Given the description of an element on the screen output the (x, y) to click on. 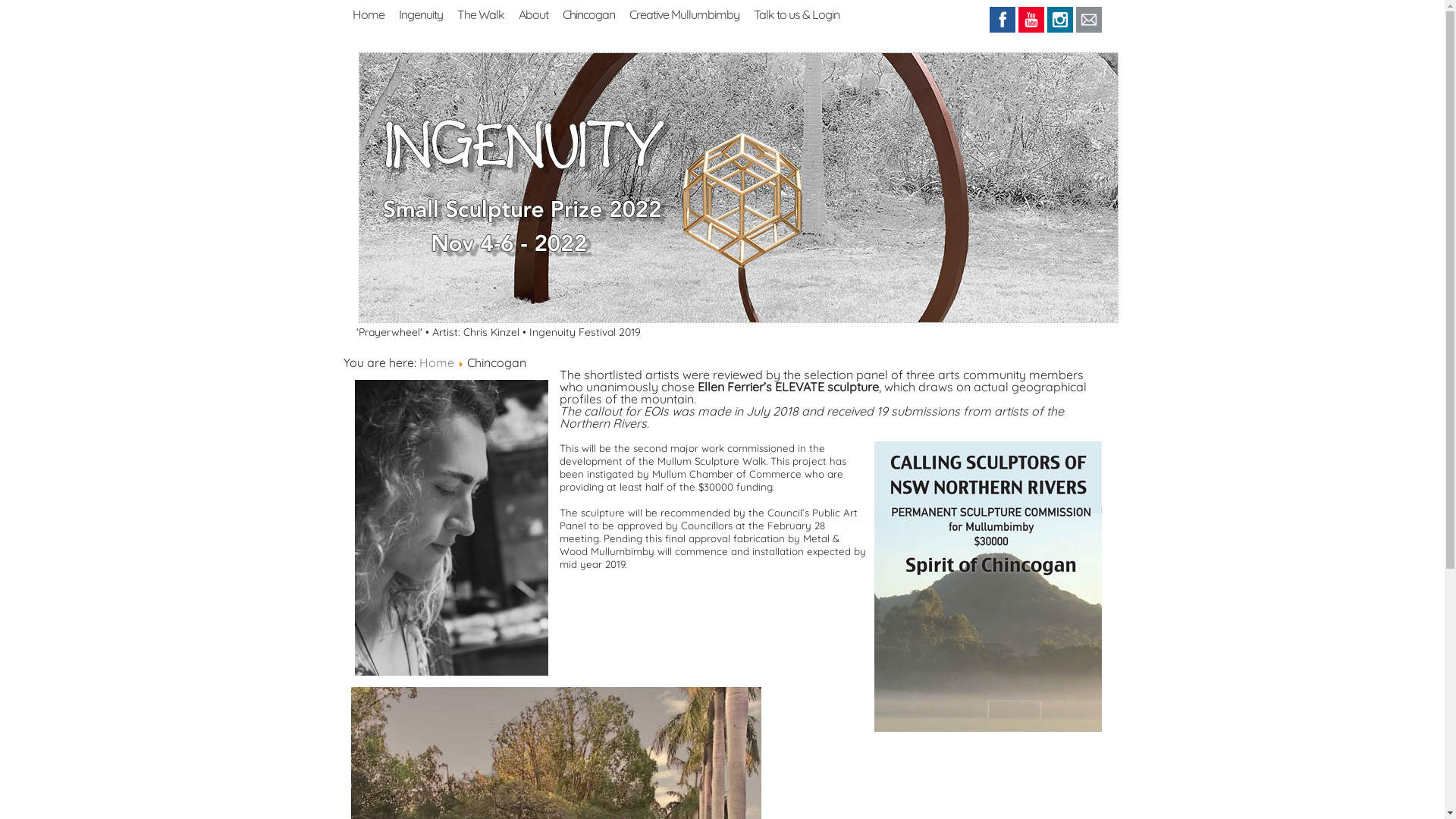
The Walk Element type: text (479, 12)
Email Element type: hover (1088, 19)
Home Element type: text (435, 362)
Chincogan Element type: text (588, 12)
Home Element type: text (367, 12)
About Element type: text (533, 12)
Facebook Element type: hover (1002, 19)
Youtube Element type: hover (1031, 19)
Instagram Element type: hover (1060, 19)
Talk to us & Login Element type: text (796, 12)
Creative Mullumbimby Element type: text (684, 12)
Ingenuity Element type: text (420, 12)
